Given the description of an element on the screen output the (x, y) to click on. 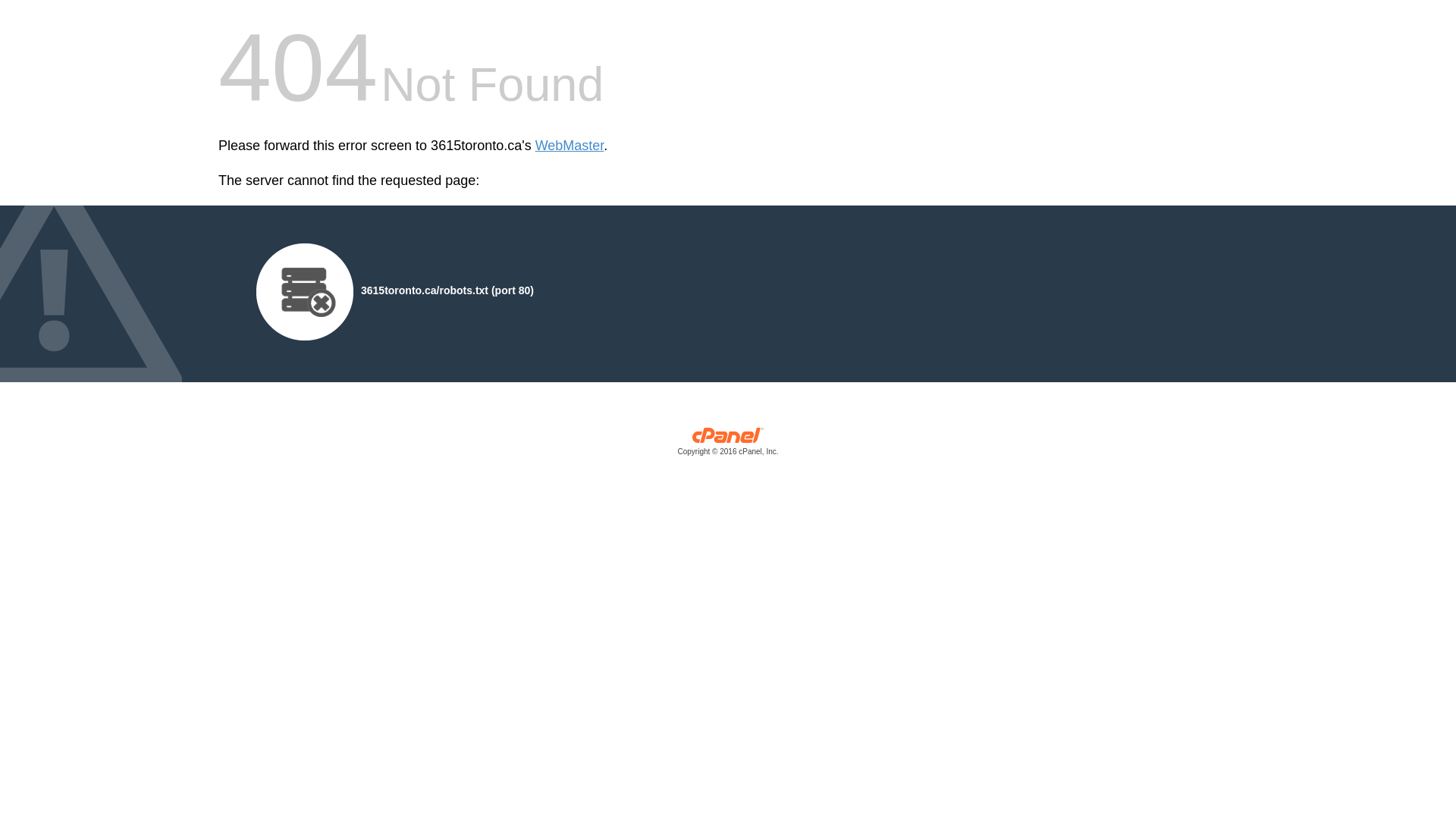
WebMaster Element type: text (569, 145)
